Given the description of an element on the screen output the (x, y) to click on. 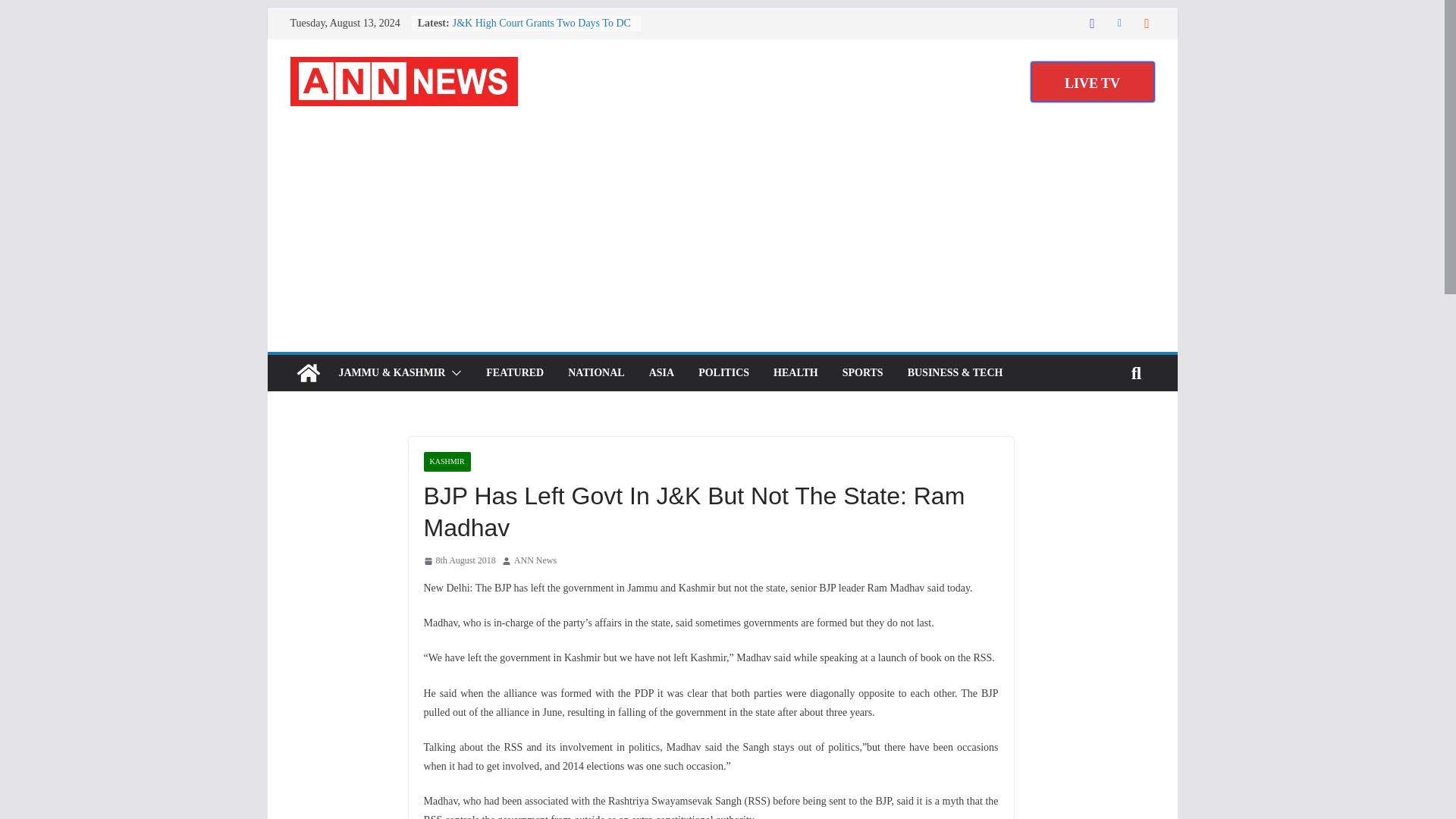
NATIONAL (595, 373)
ANN News (534, 560)
KASHMIR (446, 461)
HEALTH (795, 373)
ANN News (534, 560)
POLITICS (723, 373)
LIVE TV (1091, 81)
8th August 2018 (459, 560)
